Given the description of an element on the screen output the (x, y) to click on. 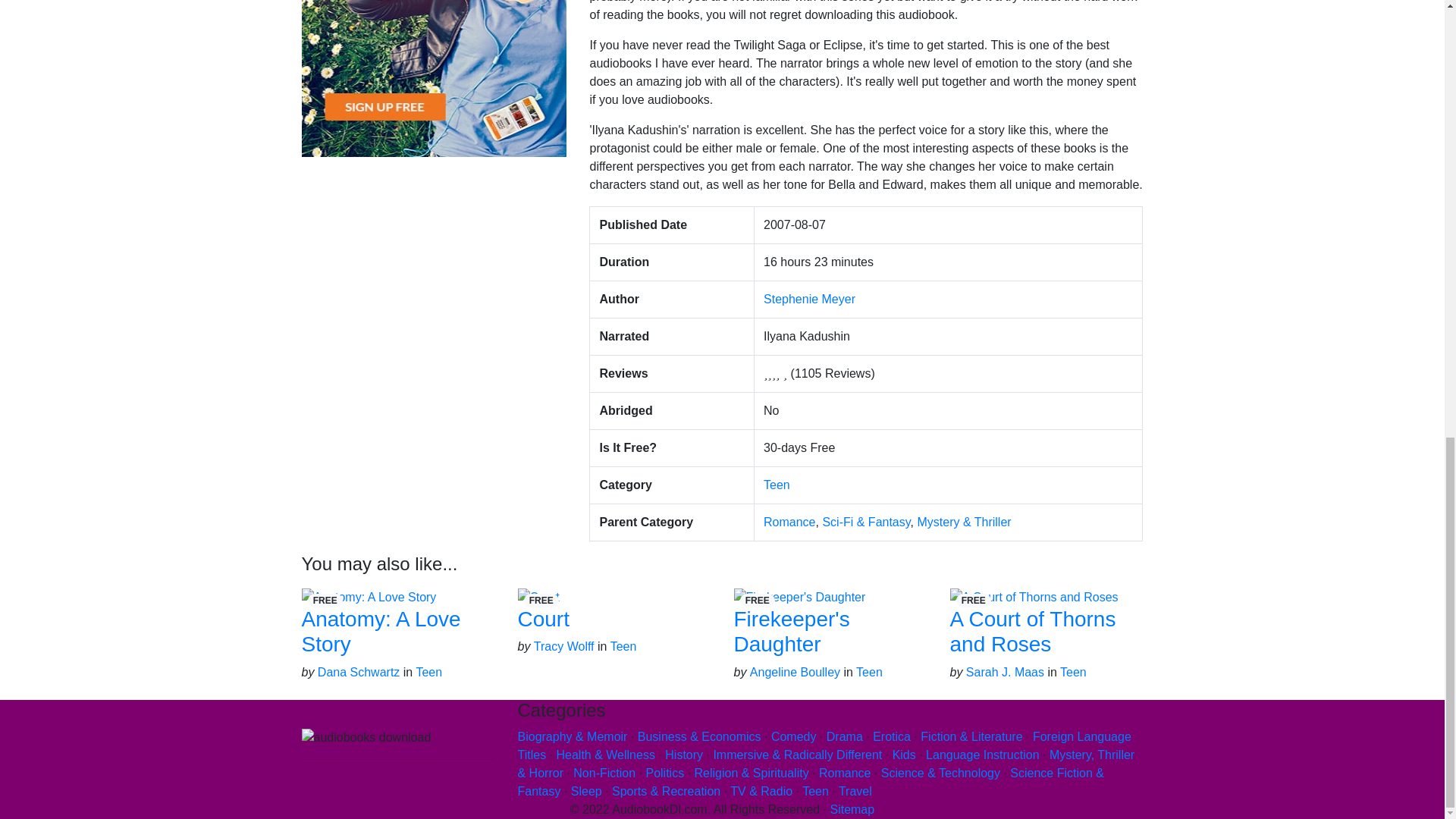
Anatomy: A Love Story (381, 631)
Teen (776, 484)
Romance (788, 521)
Stephenie Meyer (809, 298)
